Given the description of an element on the screen output the (x, y) to click on. 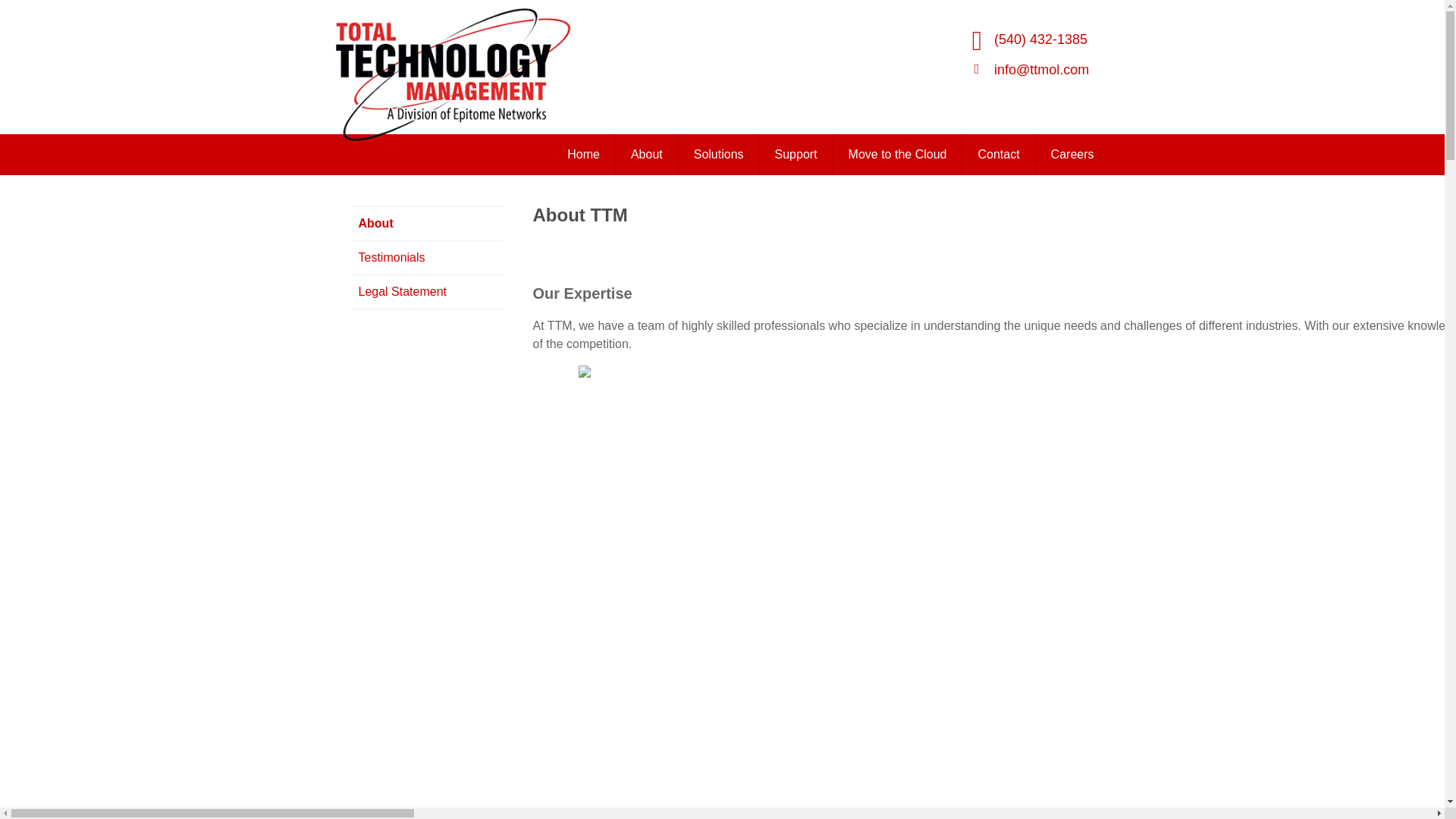
Careers (1072, 154)
Contact (998, 154)
Support (796, 154)
Legal Statement (426, 292)
Solutions (719, 154)
About (646, 154)
Move to the Cloud (897, 154)
Testimonials (426, 257)
Home (583, 154)
Call Us (1040, 39)
